Given the description of an element on the screen output the (x, y) to click on. 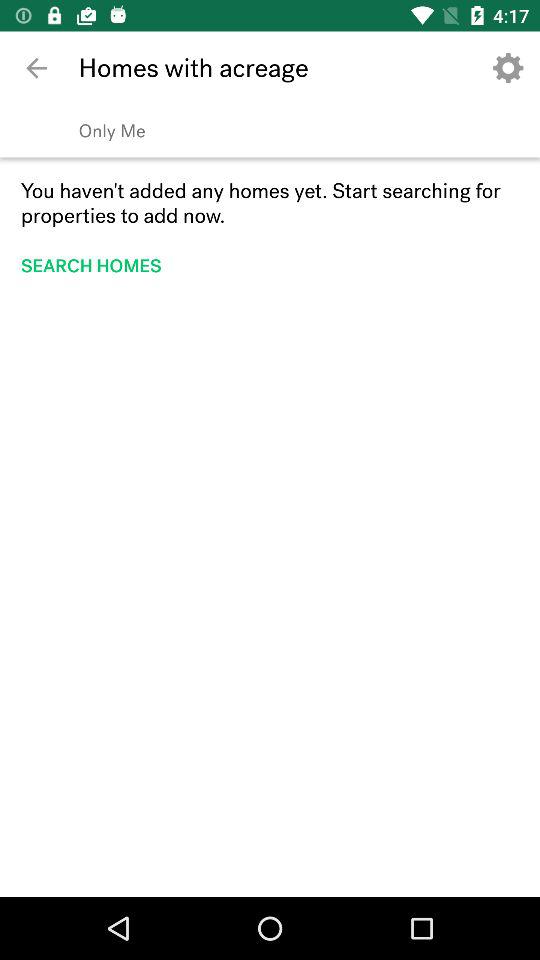
scroll until search homes item (97, 265)
